Given the description of an element on the screen output the (x, y) to click on. 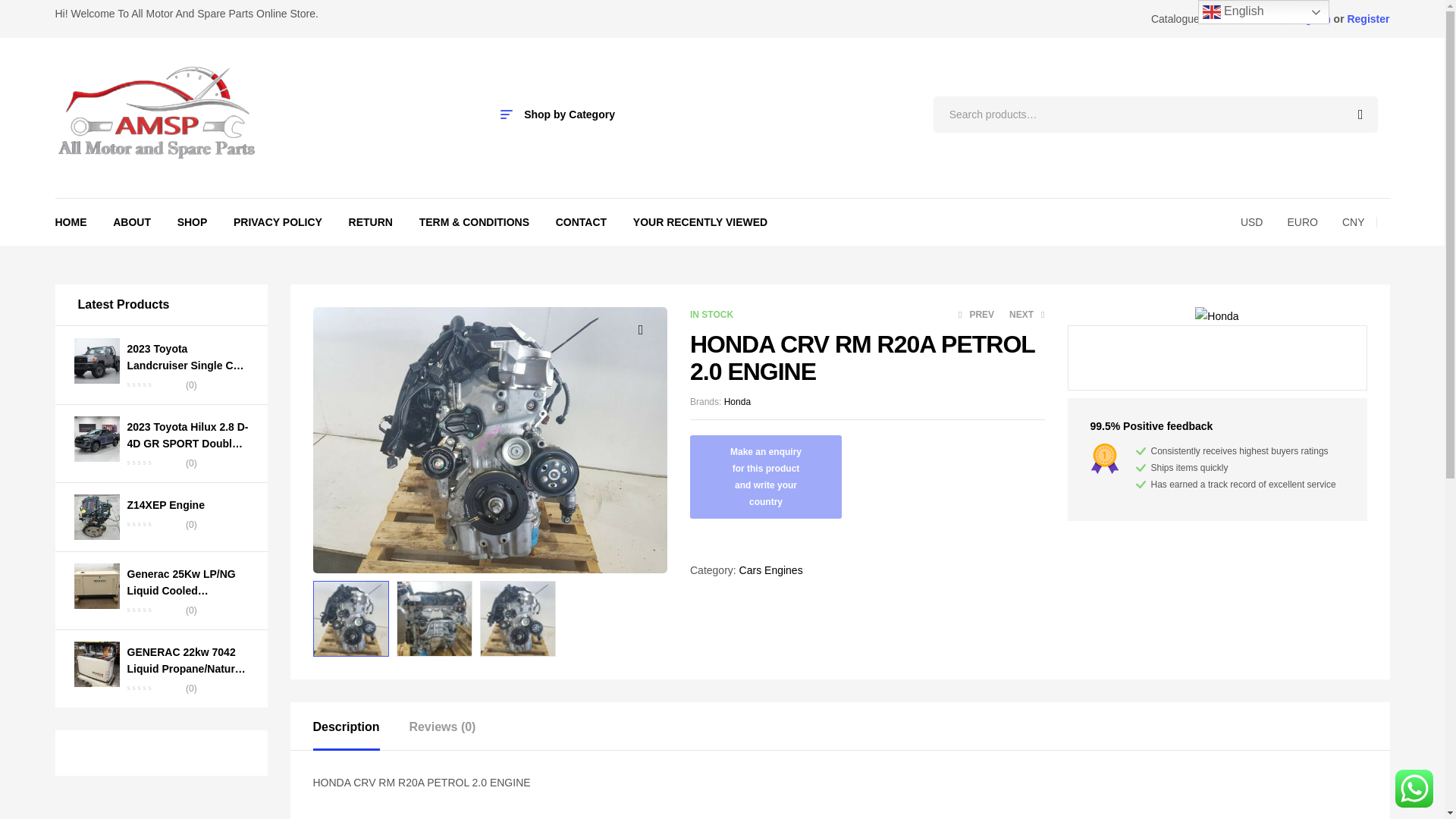
Catalogue (1175, 18)
Contact Us (1243, 18)
SEARCH (1356, 114)
Make an enquiry for this product and write your country (765, 476)
Sign In or Register (1342, 18)
Honda (1217, 316)
1 (489, 440)
